Given the description of an element on the screen output the (x, y) to click on. 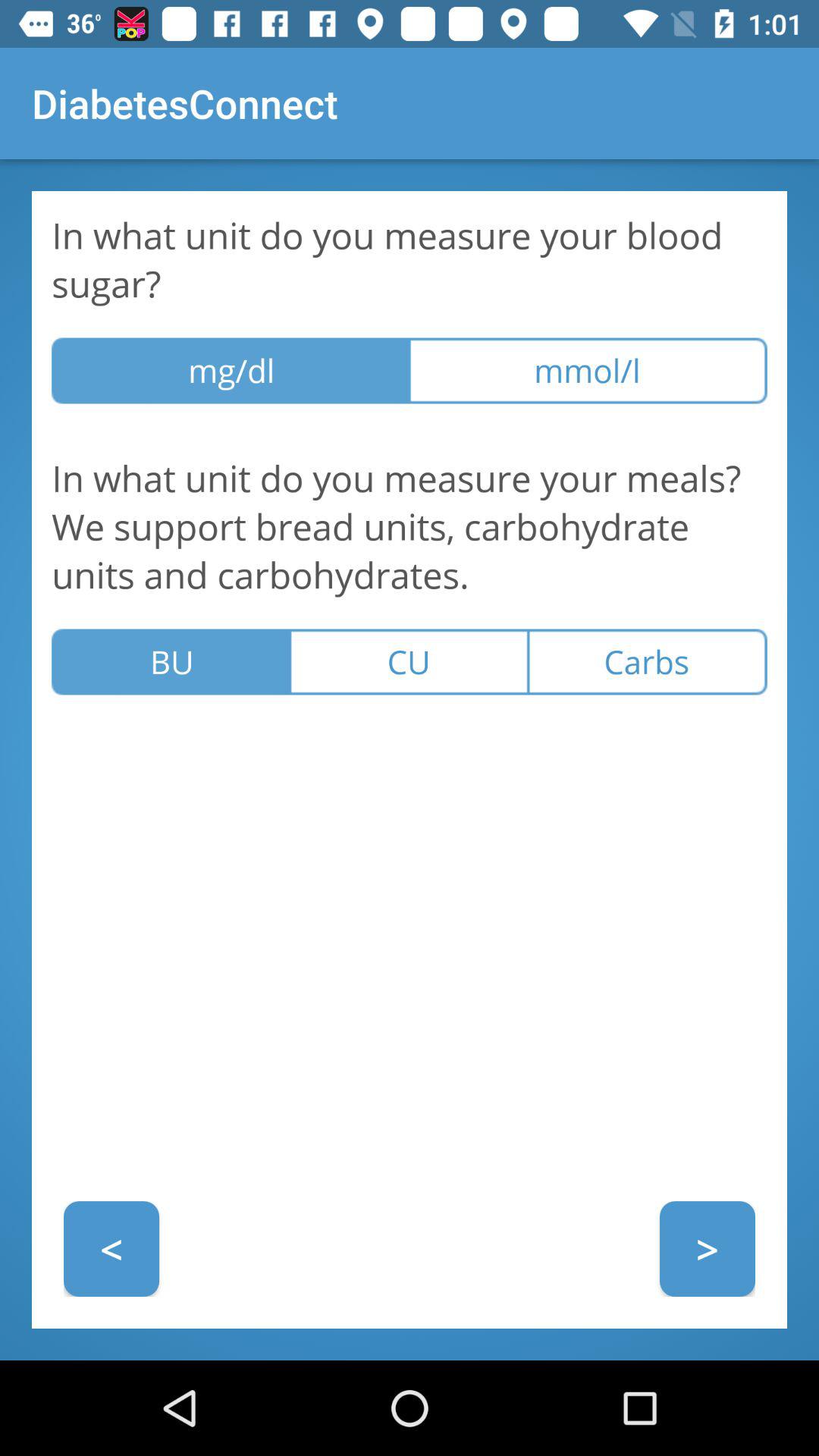
tap icon to the right of the < icon (707, 1248)
